Given the description of an element on the screen output the (x, y) to click on. 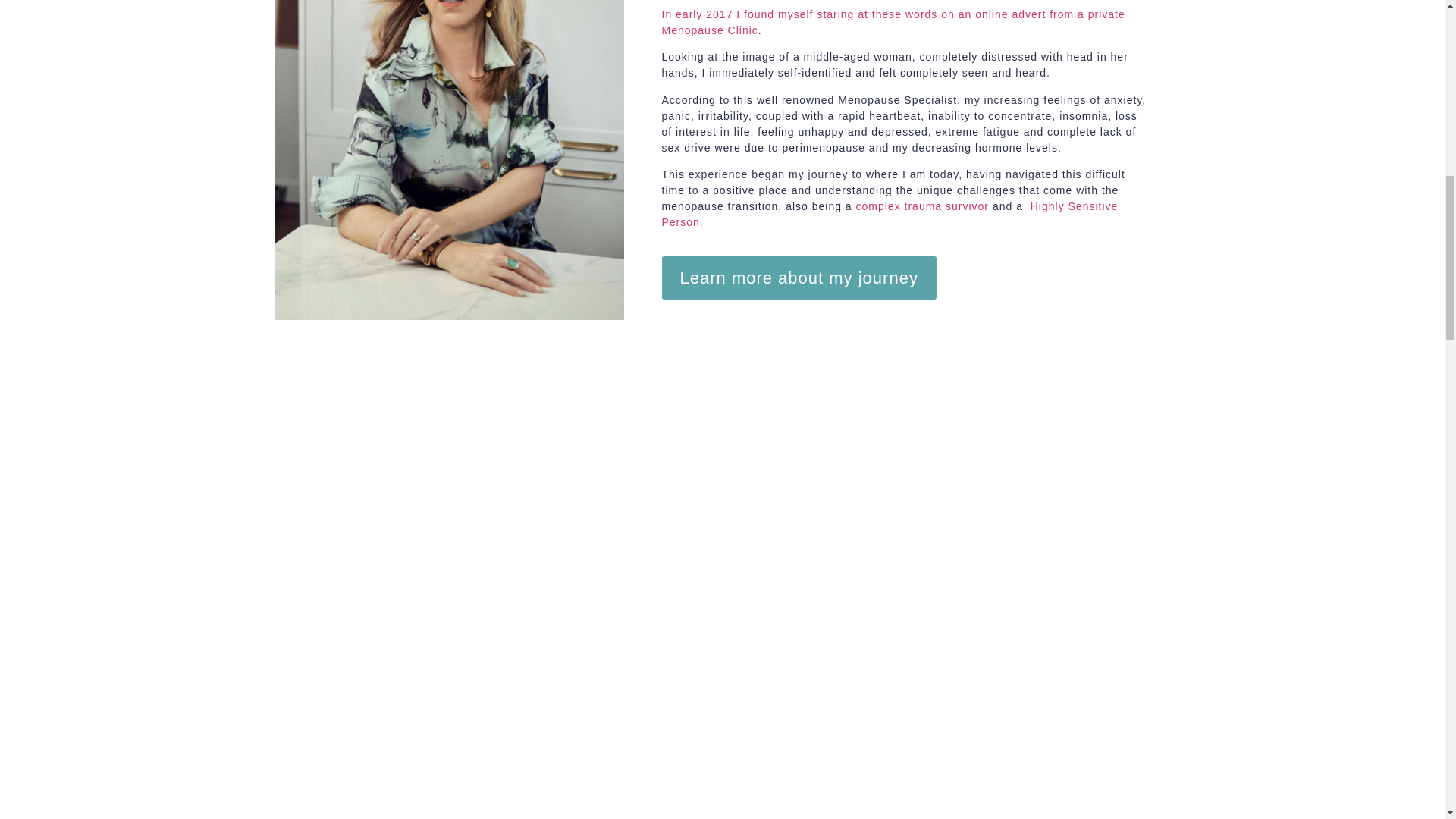
complex trauma survivor (923, 205)
Learn more about my journey (798, 277)
Highly Sensitive Person. (889, 213)
